Given the description of an element on the screen output the (x, y) to click on. 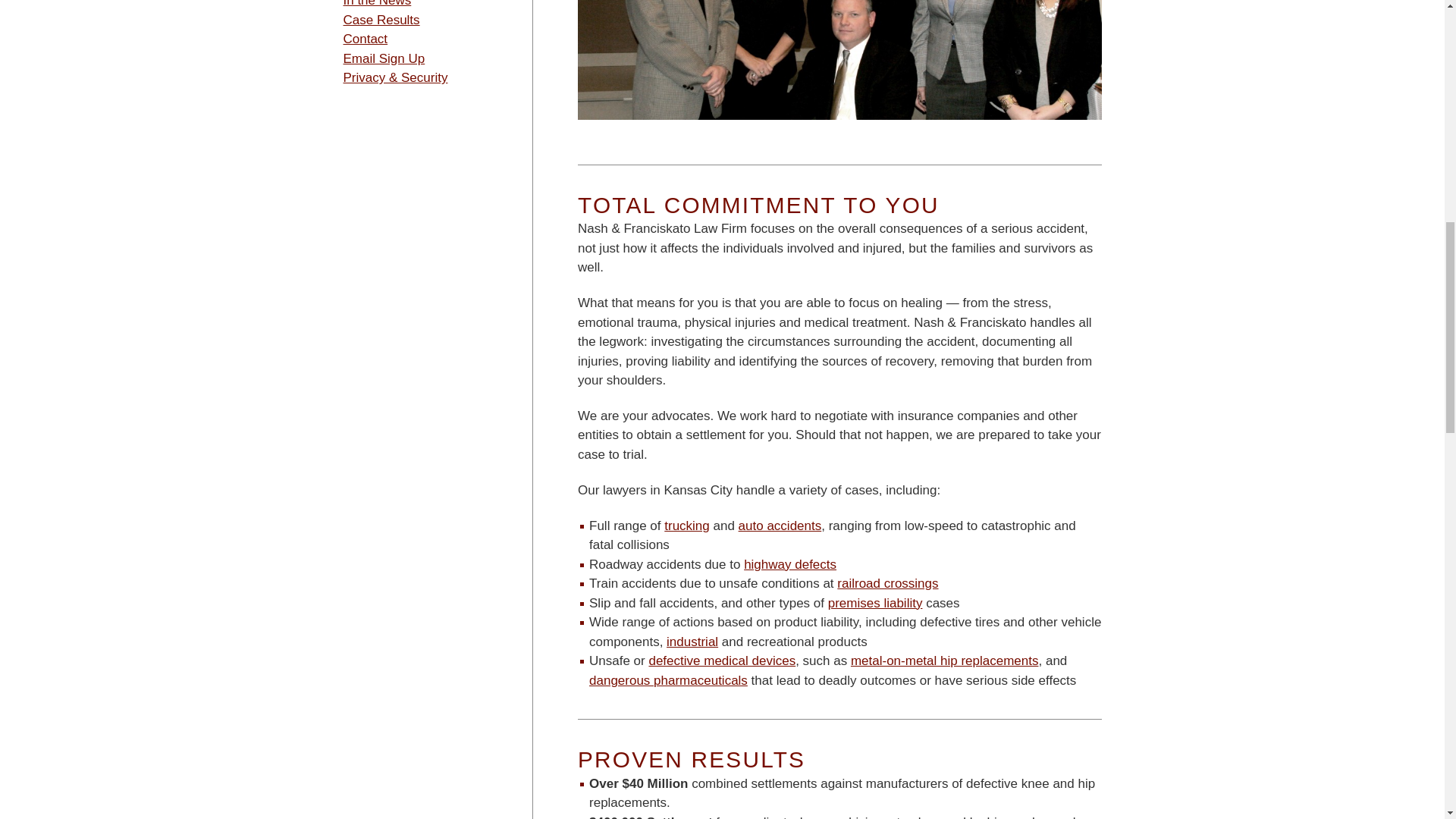
Automobile Accidents (780, 525)
Defective Medical Devices (720, 660)
Defective Drugs (668, 680)
Highway Defects (789, 564)
Premises Liablility (875, 603)
Railroad Crossing Accidents (887, 583)
Metal on Metal Hip Defects (944, 660)
Trucking Accidents (686, 525)
